Given the description of an element on the screen output the (x, y) to click on. 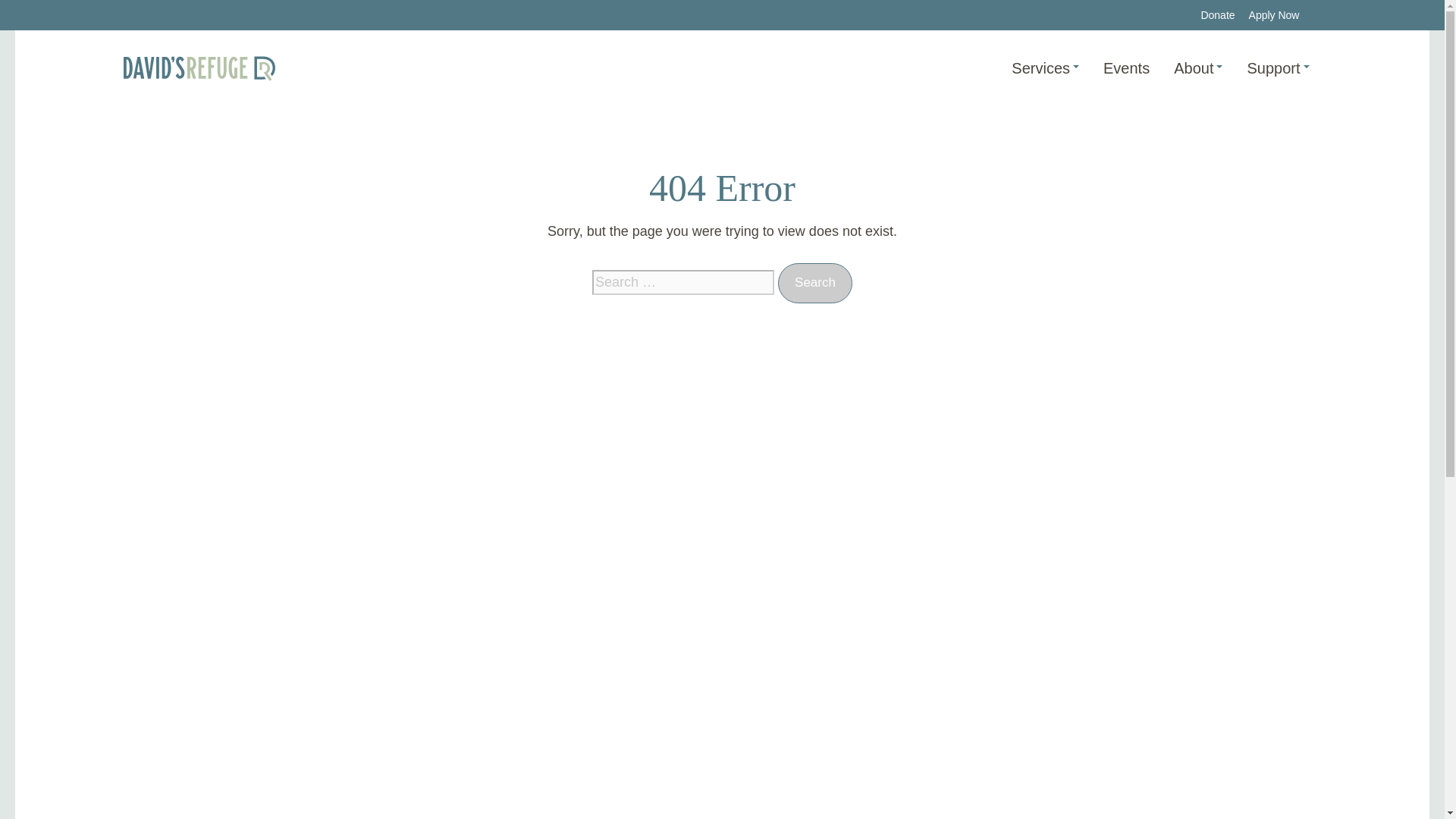
Events (1125, 68)
Search (814, 282)
Apply Now (1274, 14)
About (1197, 68)
Services (1044, 68)
Search (814, 282)
Support (1277, 68)
Donate (1216, 14)
Search (814, 282)
